Given the description of an element on the screen output the (x, y) to click on. 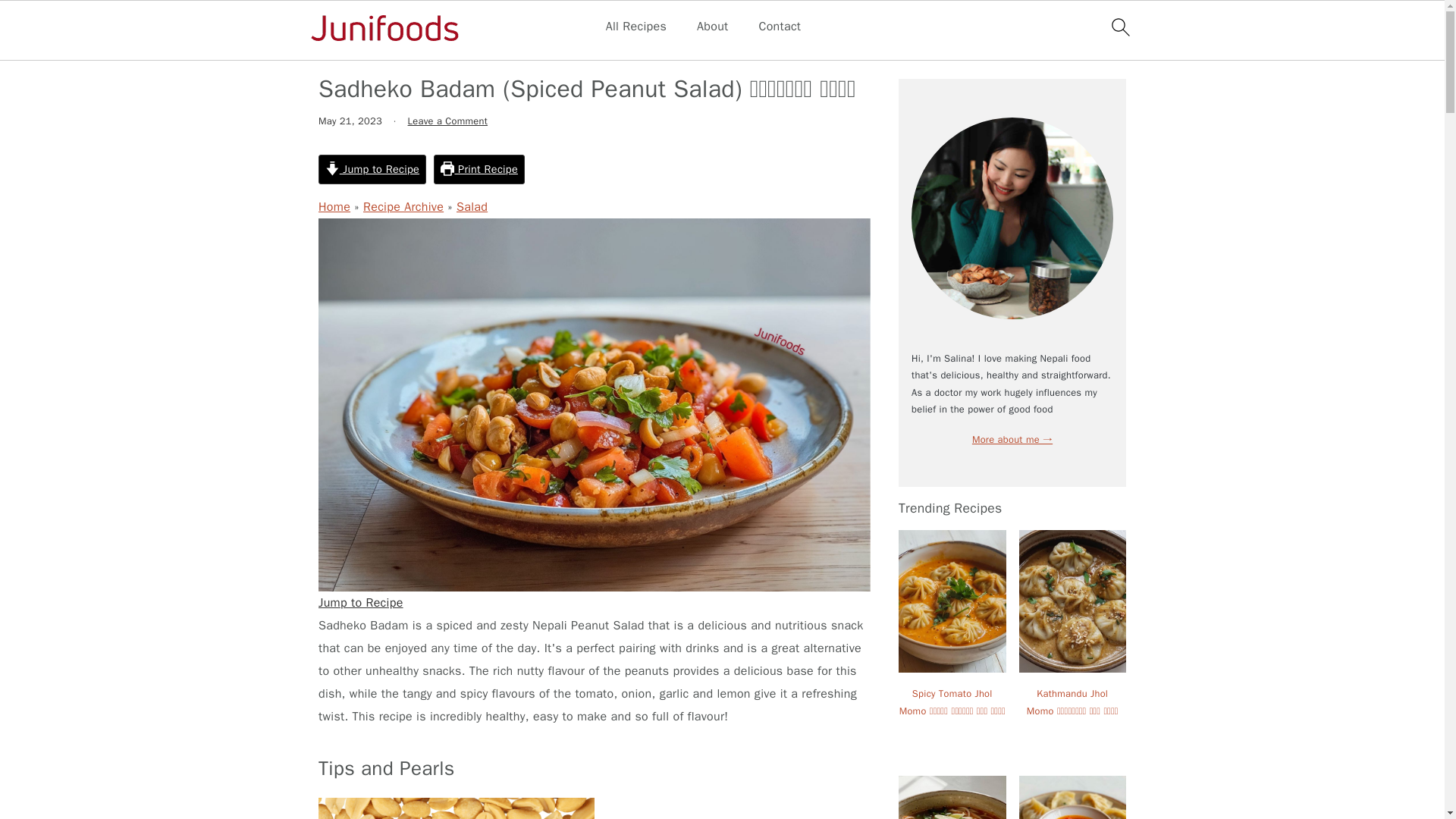
Contact (779, 26)
Recipe Archive (403, 50)
About (712, 26)
Leave a Comment (447, 121)
Home (334, 50)
Recipe Archive (403, 206)
Home (334, 206)
All Recipes (635, 26)
Salad (472, 50)
